Given the description of an element on the screen output the (x, y) to click on. 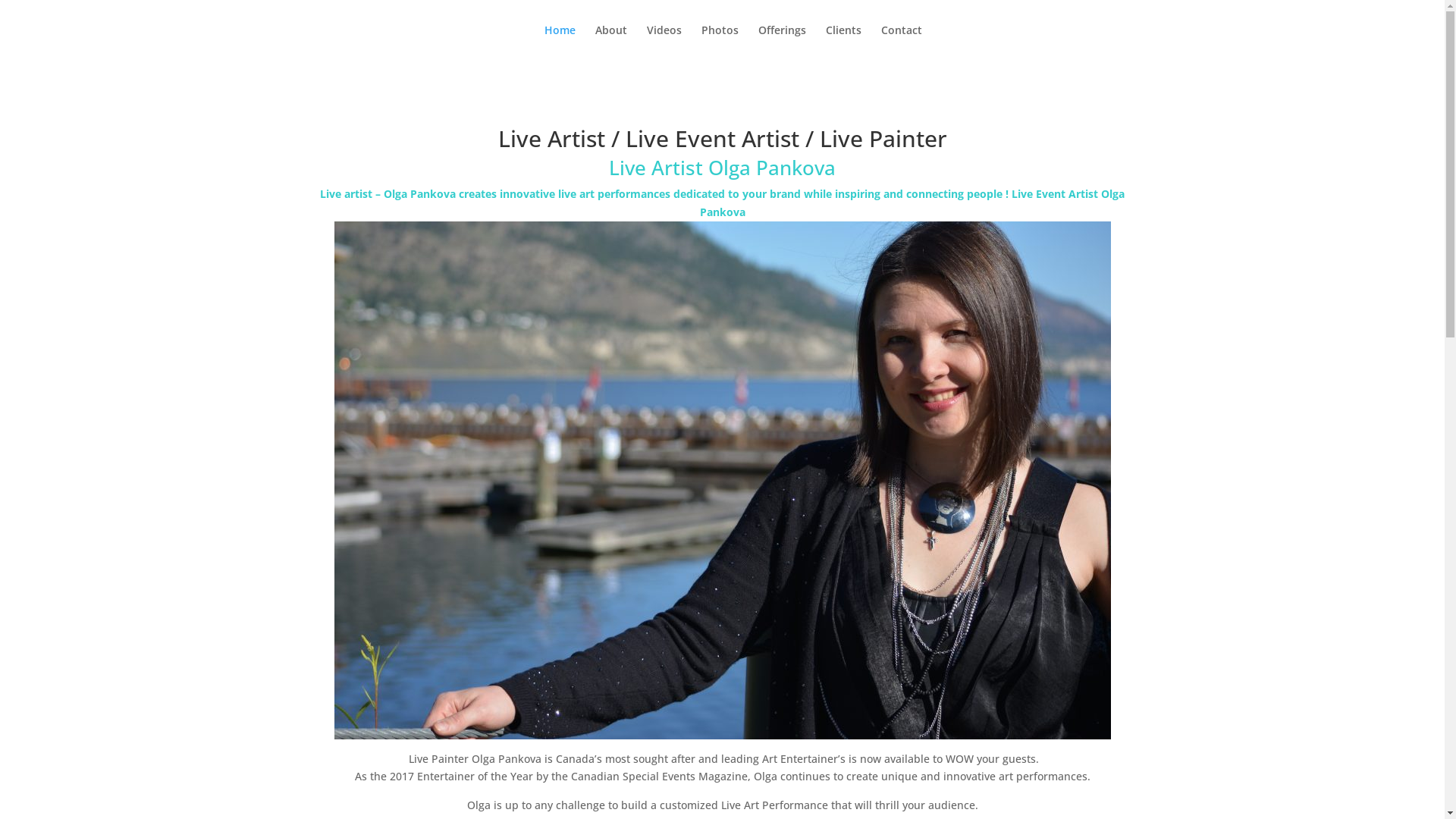
Clients Element type: text (842, 42)
Videos Element type: text (663, 42)
Photos Element type: text (718, 42)
Home Element type: text (559, 42)
Contact Element type: text (901, 42)
Offerings Element type: text (782, 42)
About Element type: text (610, 42)
